Given the description of an element on the screen output the (x, y) to click on. 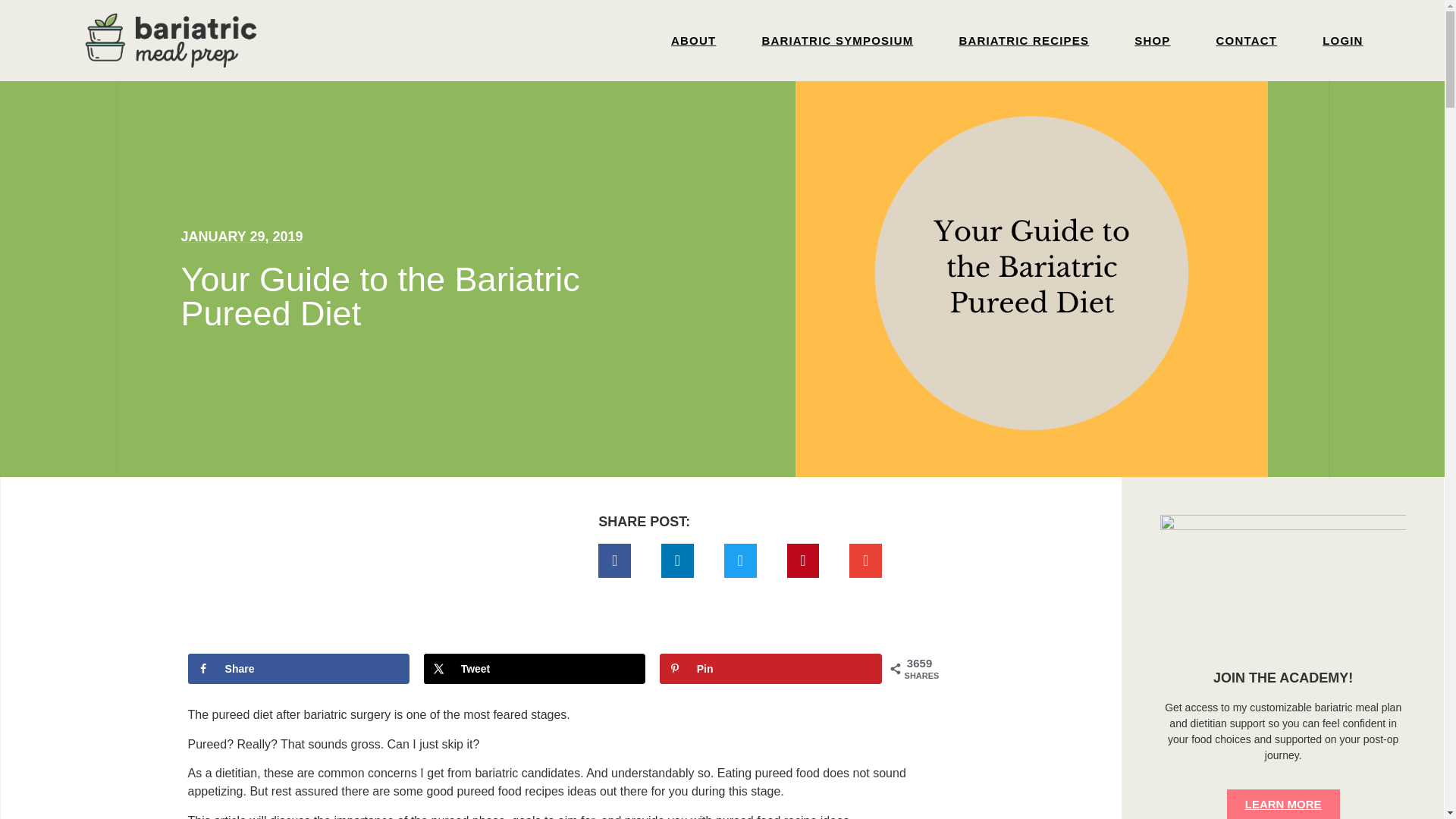
LEARN MORE (1283, 804)
ABOUT (693, 40)
JANUARY 29, 2019 (241, 236)
Share on X (534, 668)
BARIATRIC SYMPOSIUM (837, 40)
Tweet (534, 668)
Share (298, 668)
Share on Facebook (298, 668)
BARIATRIC RECIPES (1023, 40)
SHOP (1151, 40)
